Given the description of an element on the screen output the (x, y) to click on. 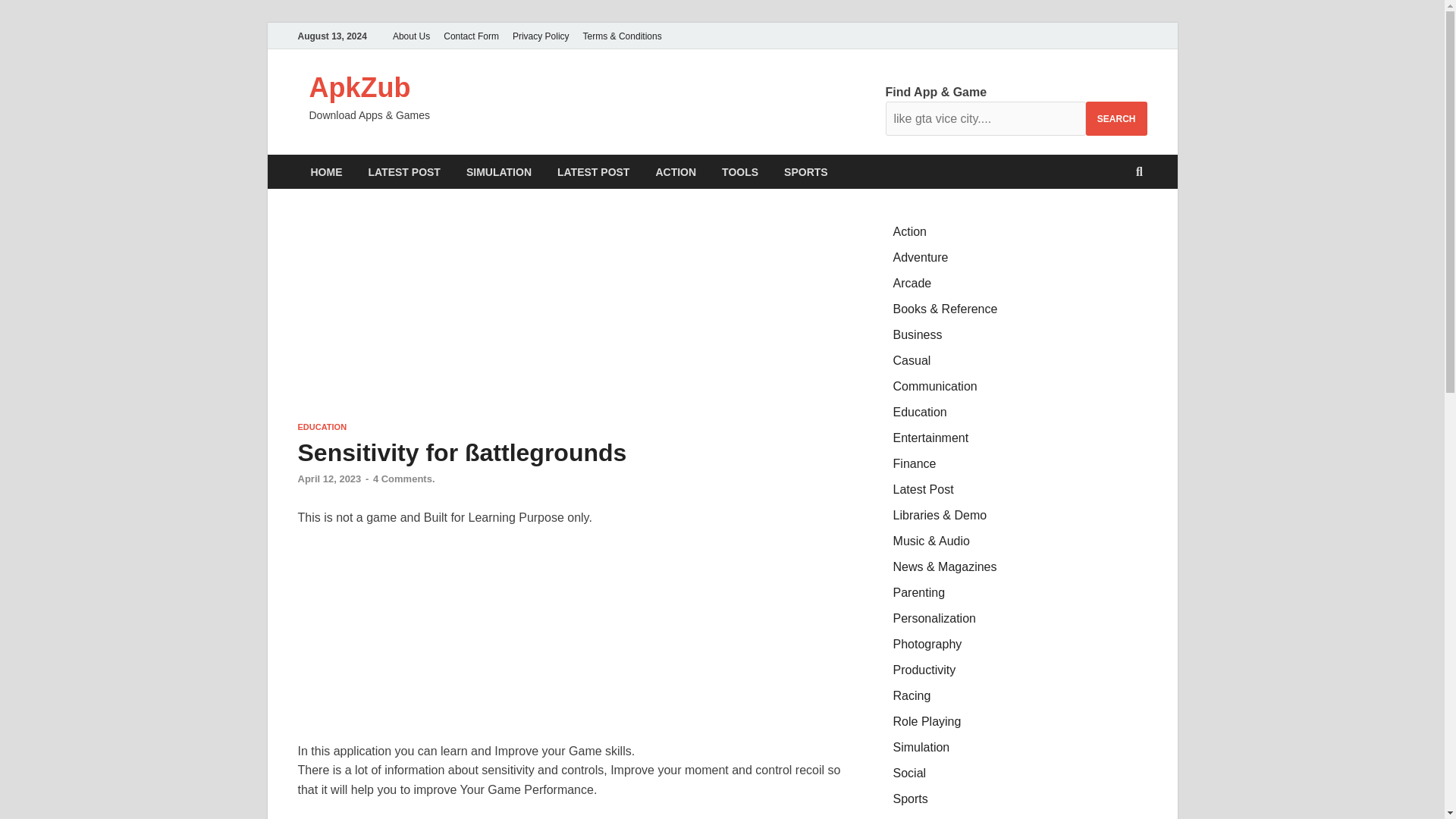
Privacy Policy (540, 35)
Action (909, 231)
LATEST POST (593, 171)
Entertainment (931, 437)
ApkZub (359, 87)
About Us (410, 35)
LATEST POST (403, 171)
Contact Form (470, 35)
April 12, 2023 (329, 478)
Arcade (912, 282)
